Given the description of an element on the screen output the (x, y) to click on. 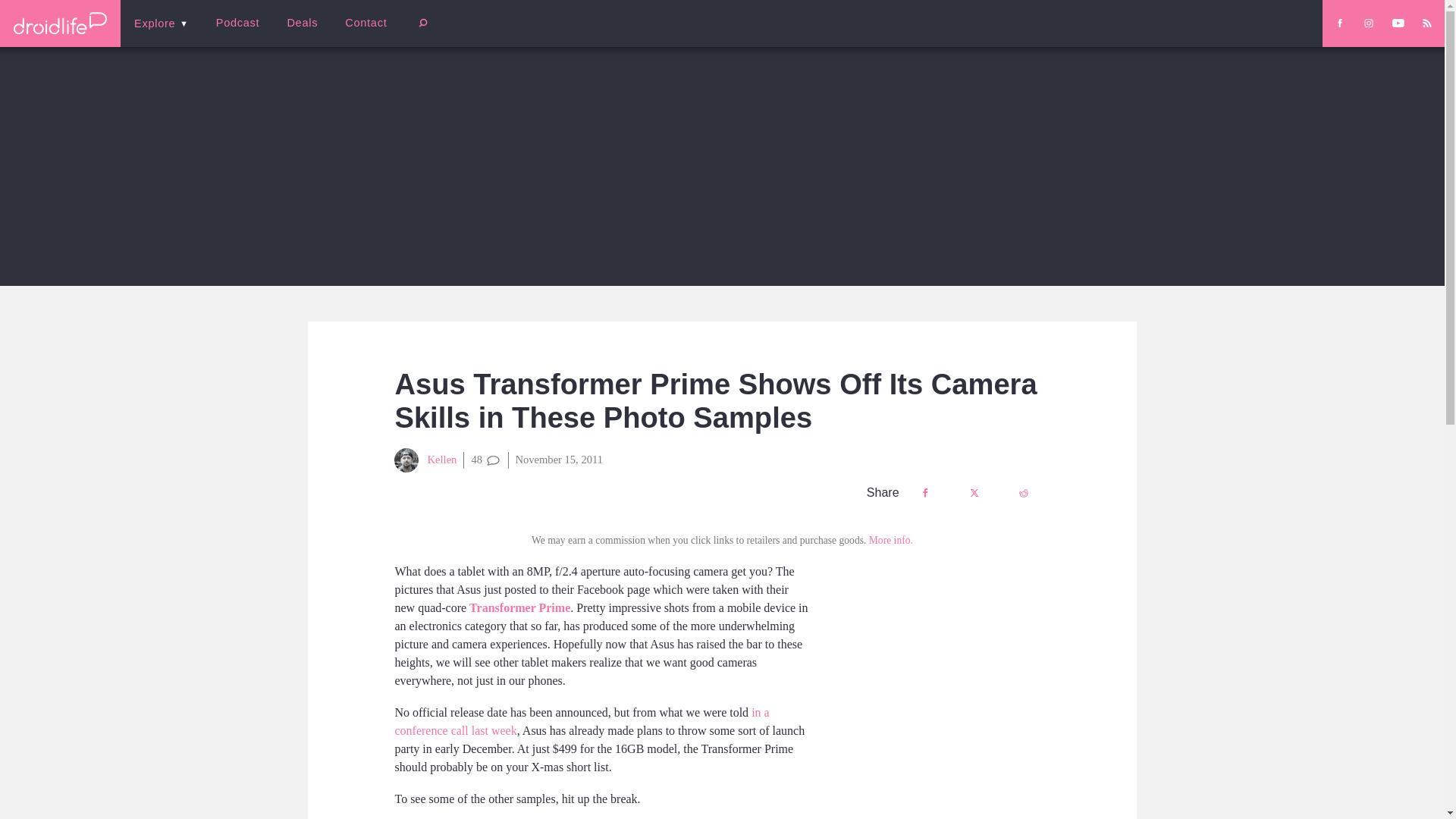
Contact (365, 23)
Droid Life RSS (1426, 23)
Droid Life on Instagram (1368, 23)
Kellen (425, 459)
Explore (161, 23)
Beginners' Guide (360, 33)
Droid Life on Facebook (1339, 23)
Droid Life on YouTube (1398, 23)
Podcast (237, 23)
Deals (302, 23)
